Given the description of an element on the screen output the (x, y) to click on. 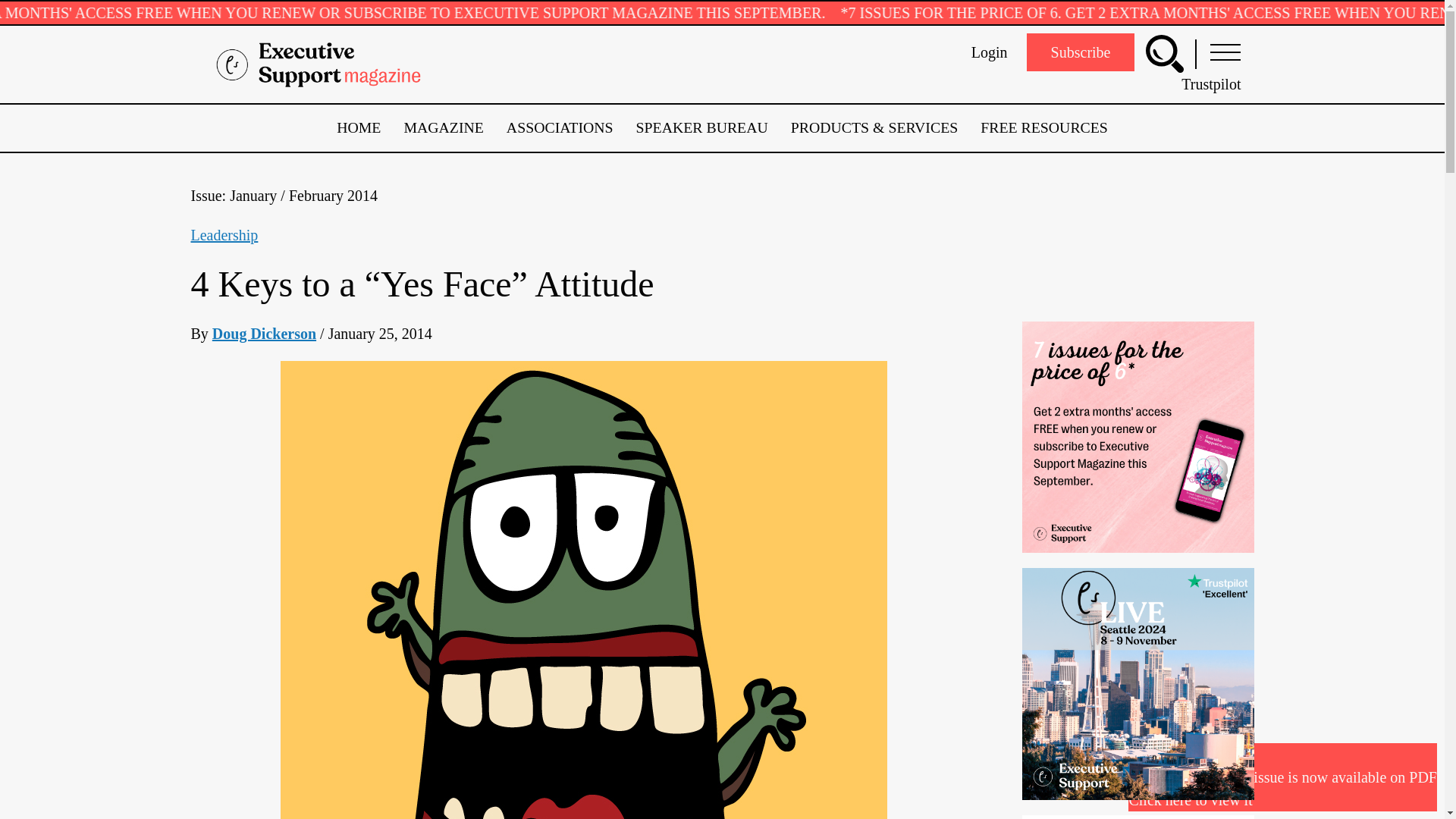
ASSOCIATIONS (559, 126)
Posts by Doug Dickerson (263, 333)
MAGAZINE (443, 126)
HOME (358, 126)
SPEAKER BUREAU (702, 126)
Leadership (224, 234)
Login (989, 52)
Trustpilot (1210, 84)
Subscribe (1080, 52)
